Given the description of an element on the screen output the (x, y) to click on. 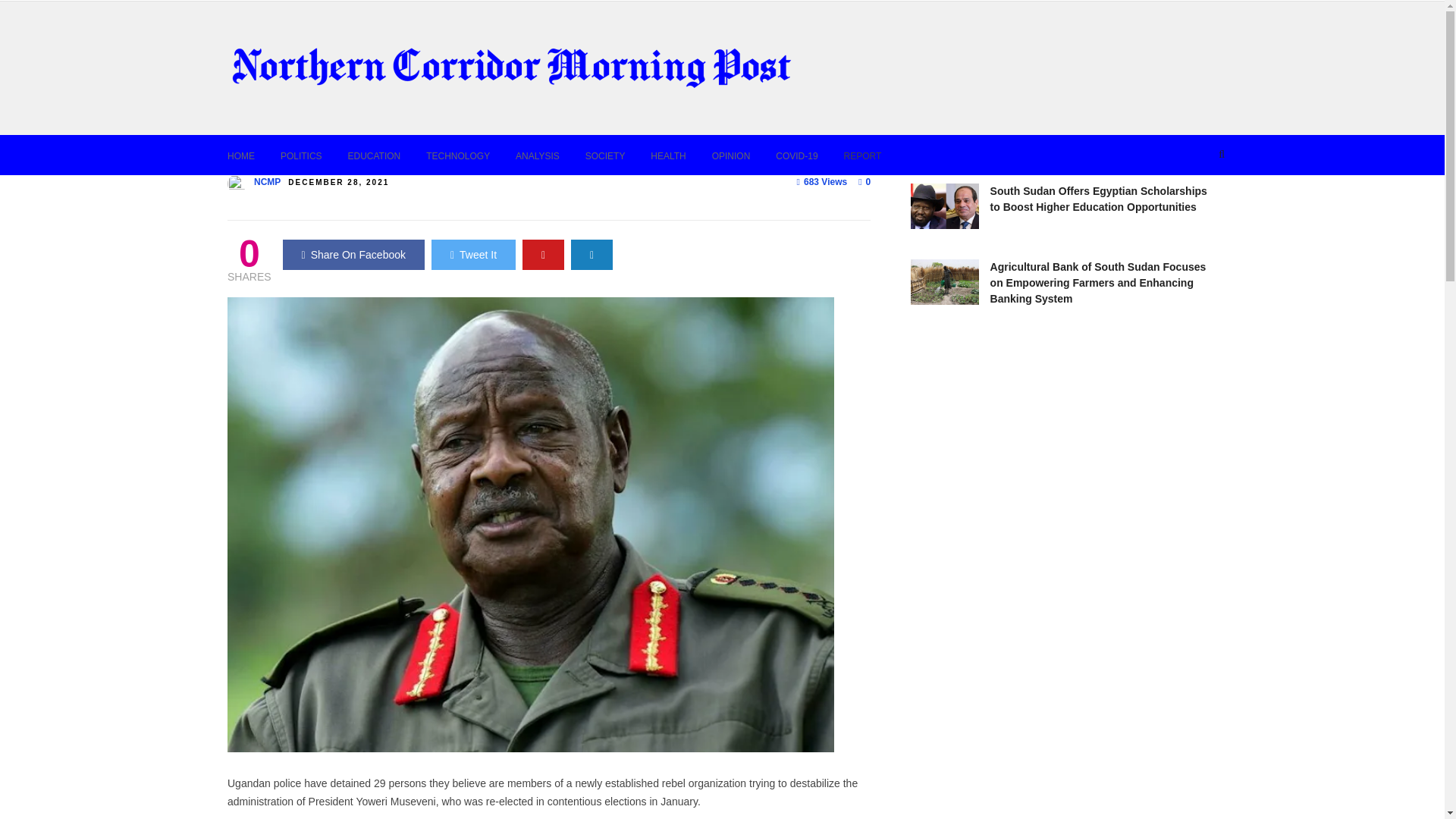
Share by Email (591, 254)
Share On Facebook (353, 254)
Share On Twitter (472, 254)
Share On Pinterest (543, 254)
